Given the description of an element on the screen output the (x, y) to click on. 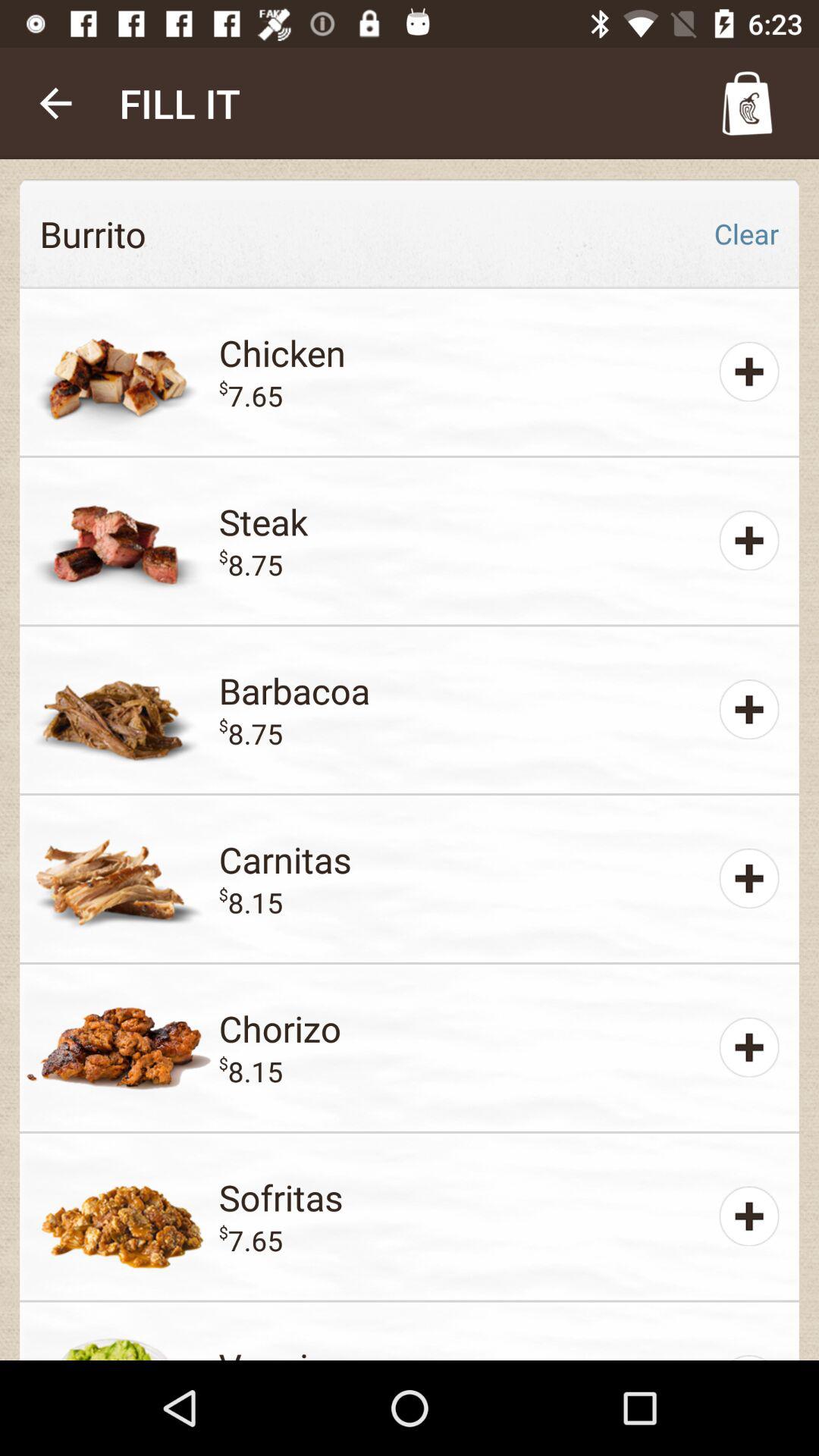
select the plus symbol right to steak (749, 540)
select plus sign right side of barbacoa (749, 708)
select the plus option which is beside chicken (749, 371)
click on plus button of last option under burrito (749, 1216)
